Given the description of an element on the screen output the (x, y) to click on. 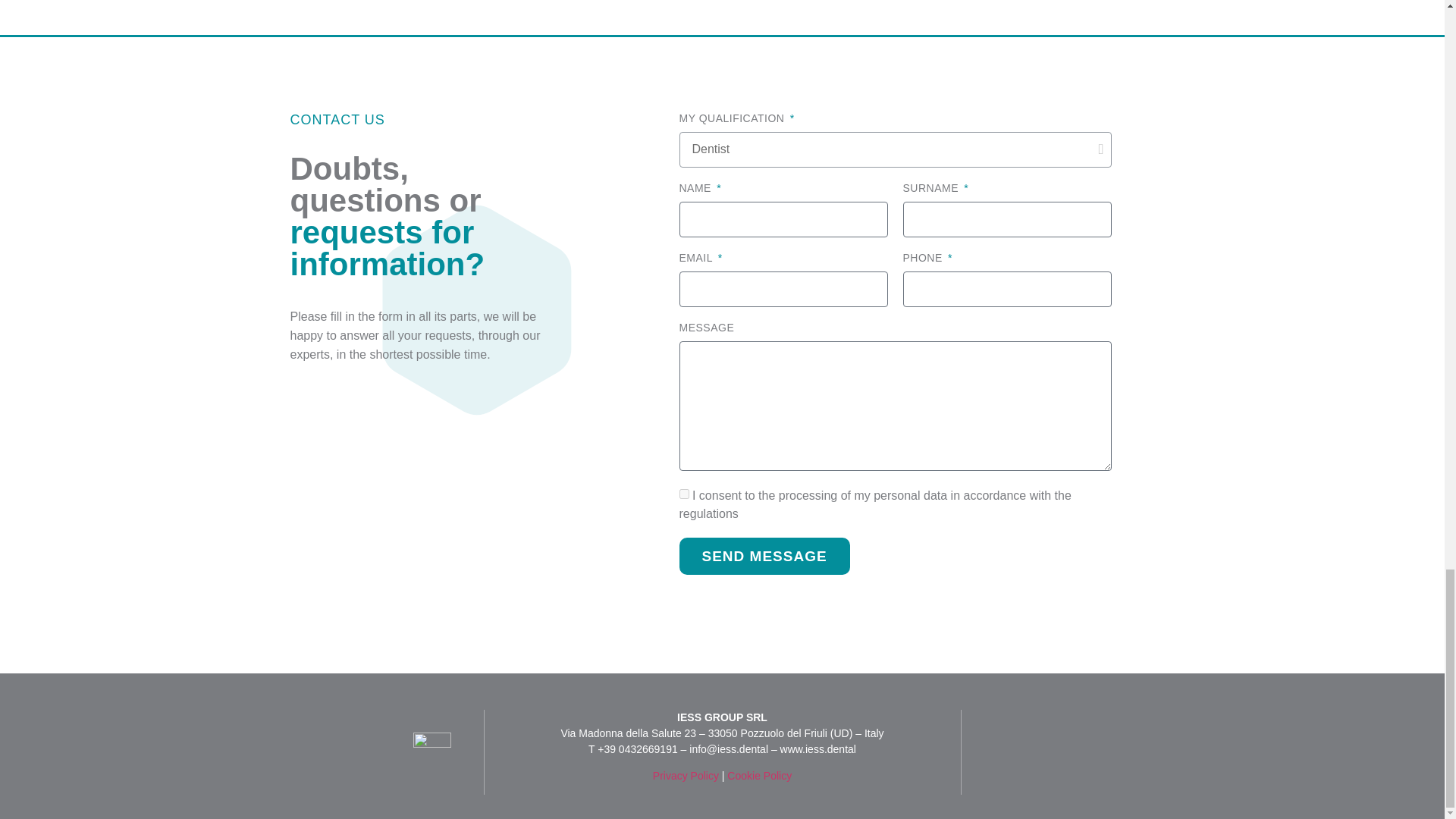
Cookie Policy  (759, 775)
on (683, 493)
Privacy Policy  (685, 775)
